Given the description of an element on the screen output the (x, y) to click on. 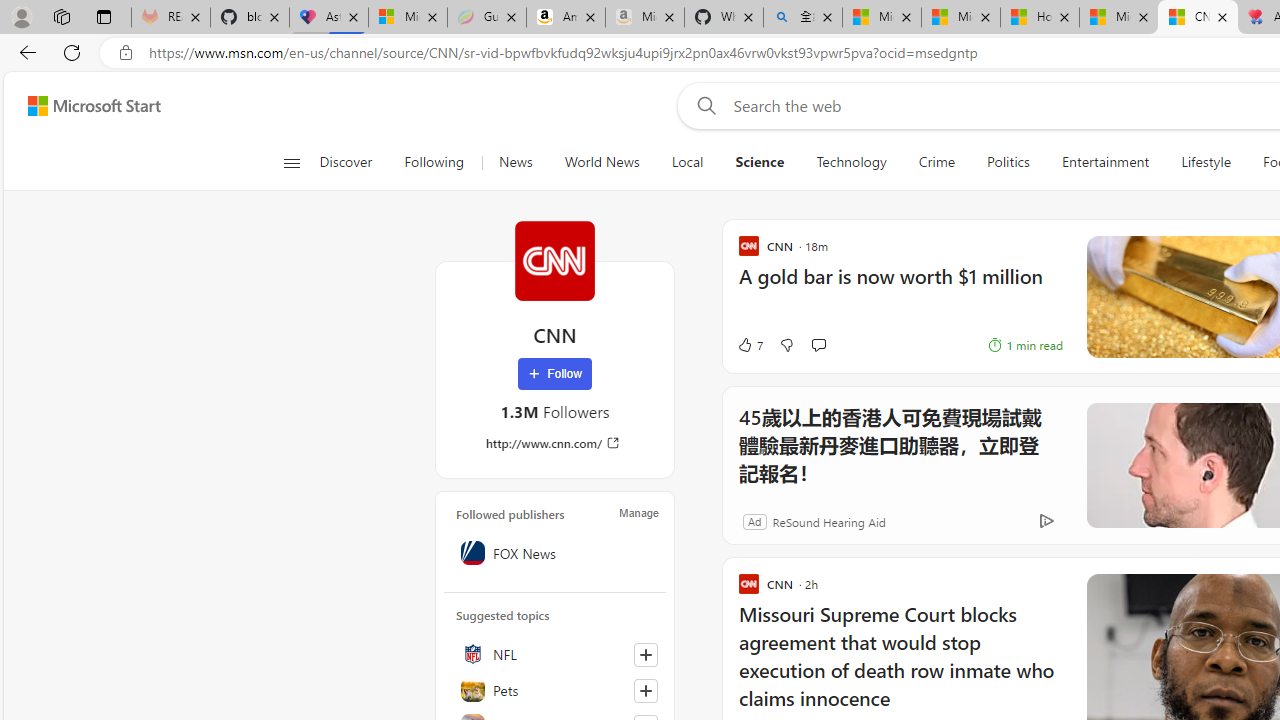
CNN - MSN (1197, 17)
CNN (554, 260)
Follow this topic (645, 690)
FOX News (555, 552)
Class: button-glyph (290, 162)
Pets (555, 690)
